Given the description of an element on the screen output the (x, y) to click on. 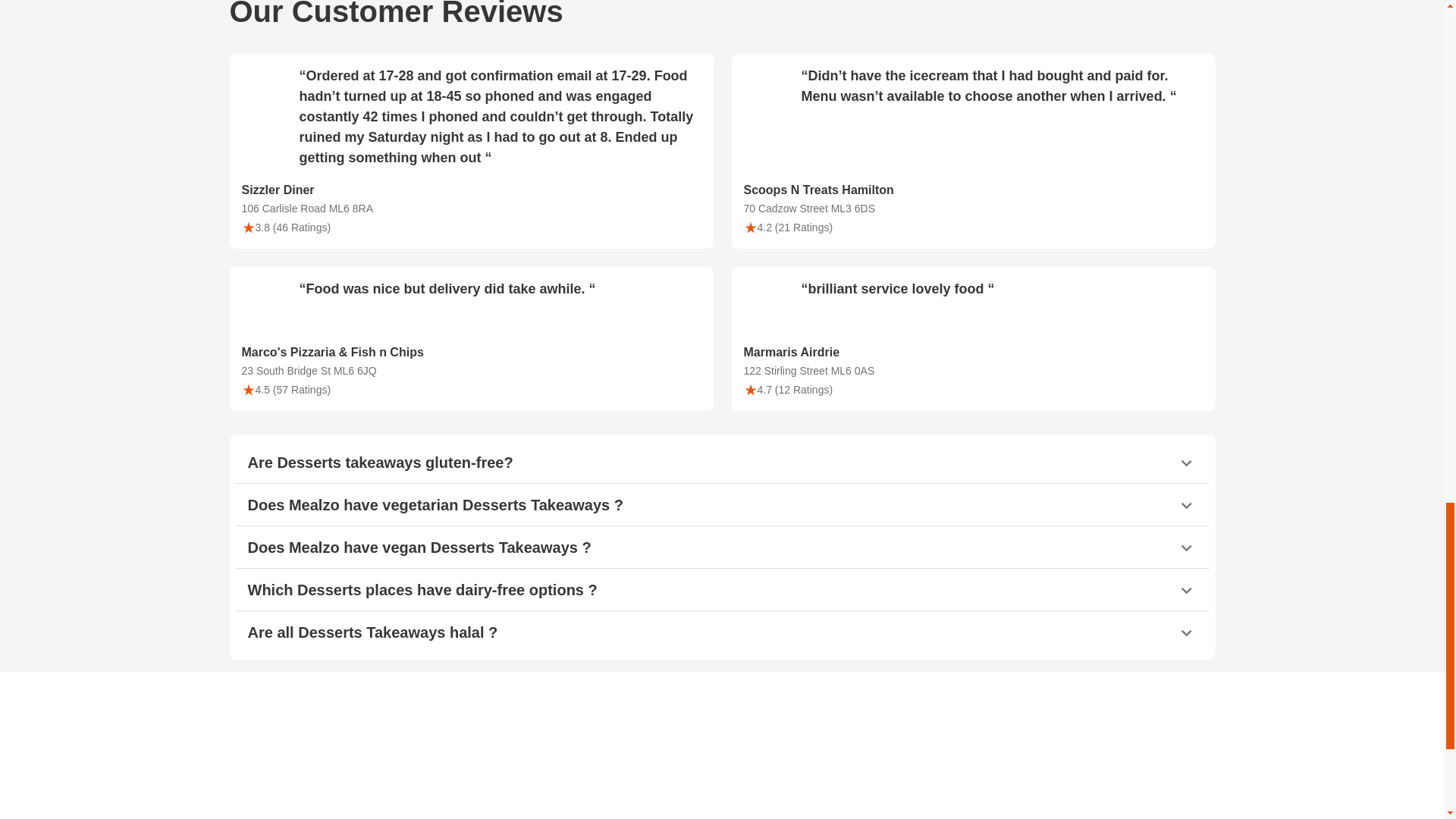
Scoops N Treats Hamilton (972, 189)
Marmaris Airdrie (972, 352)
Sizzler Diner (470, 189)
